Given the description of an element on the screen output the (x, y) to click on. 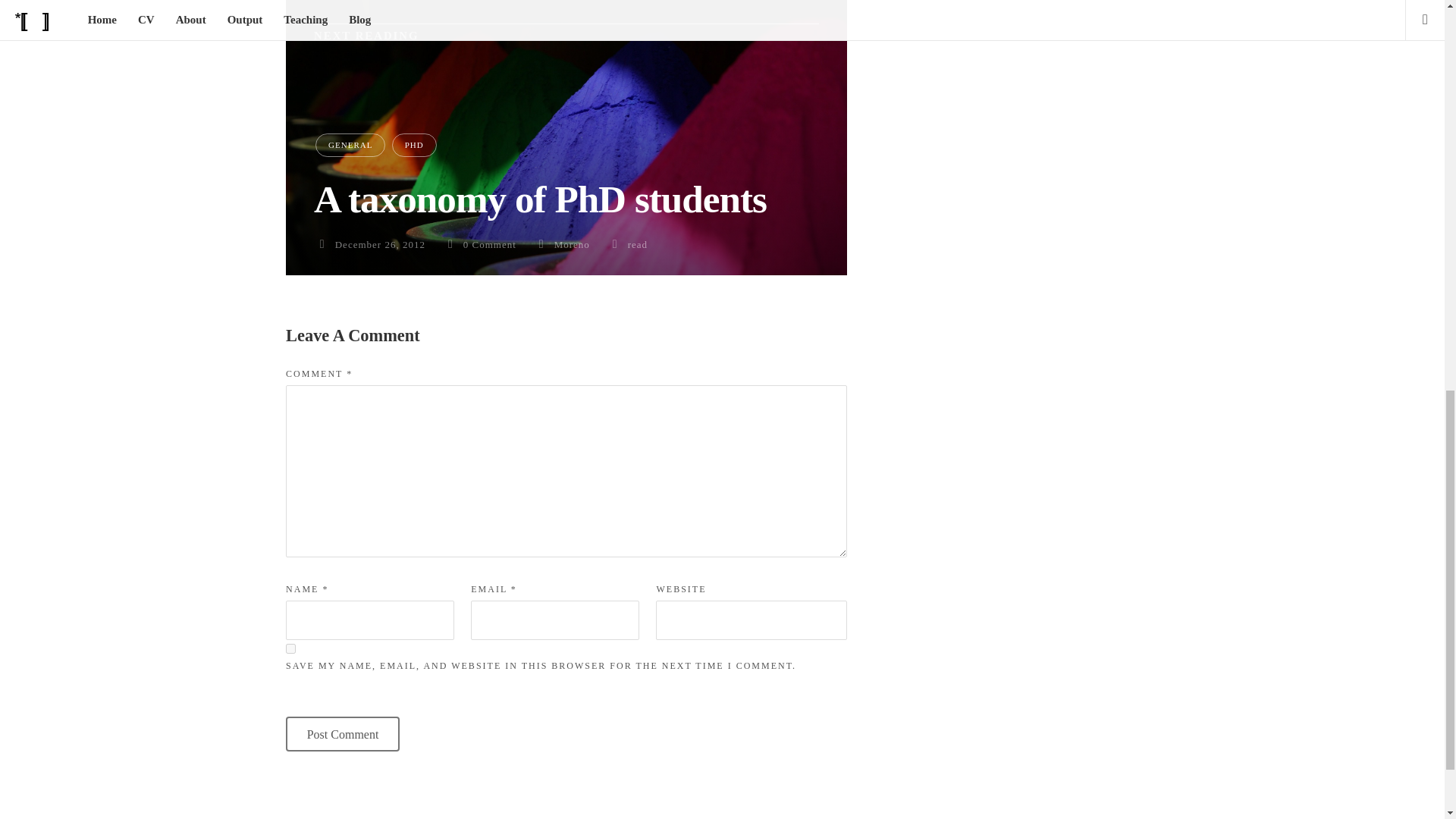
Post Comment (341, 733)
Moreno (571, 244)
Post Comment (341, 733)
A taxonomy of PhD students (540, 198)
PHD (413, 145)
yes (290, 648)
0 Comment (489, 244)
GENERAL (350, 145)
December 26, 2012 (379, 244)
